Given the description of an element on the screen output the (x, y) to click on. 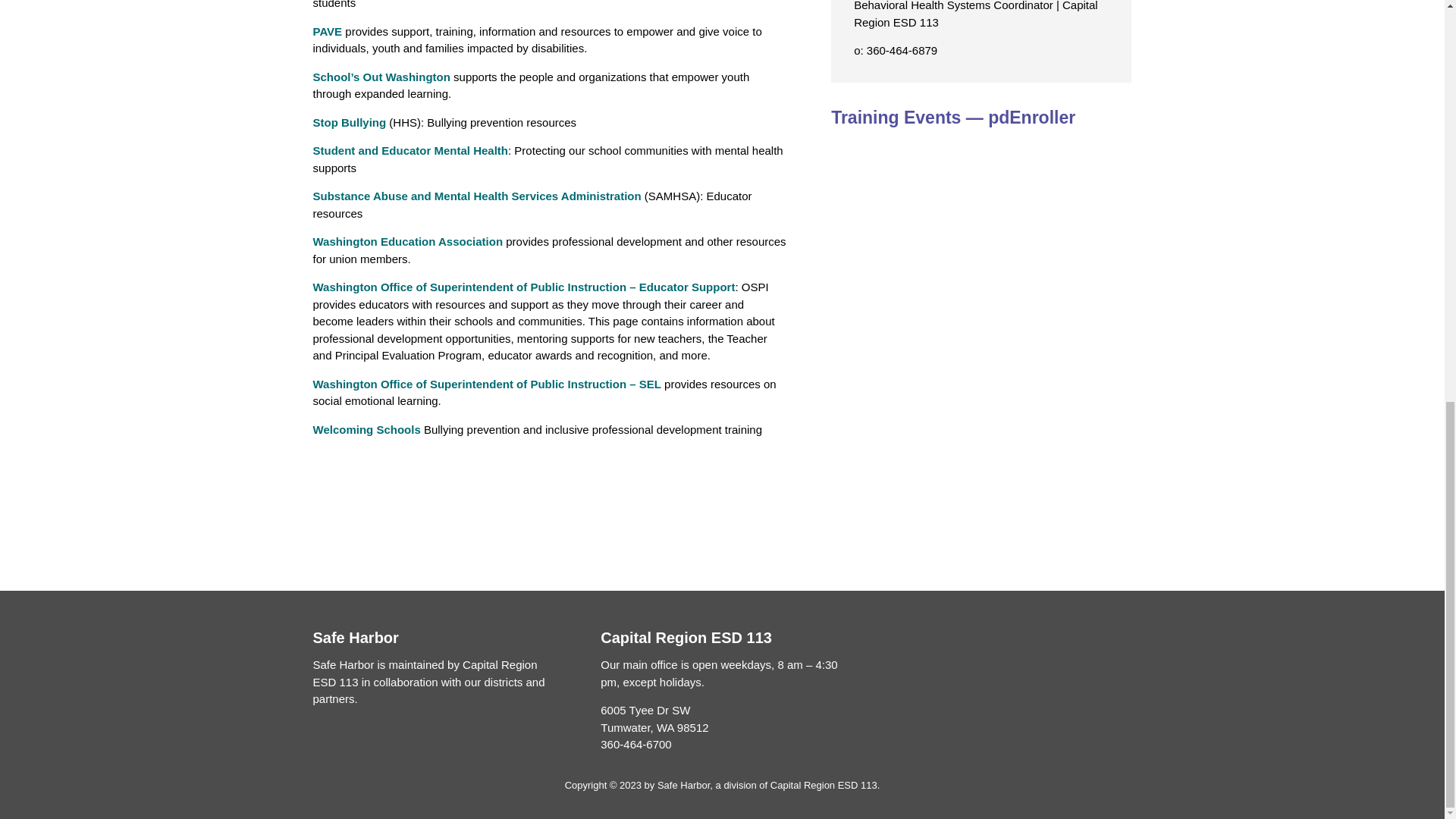
Welcoming Schools (366, 429)
PAVE (327, 31)
Washington Education Association (407, 241)
Stop Bullying (349, 122)
Substance Abuse and Mental Health Services Administration (476, 195)
Student and Educator Mental Health (410, 150)
